Given the description of an element on the screen output the (x, y) to click on. 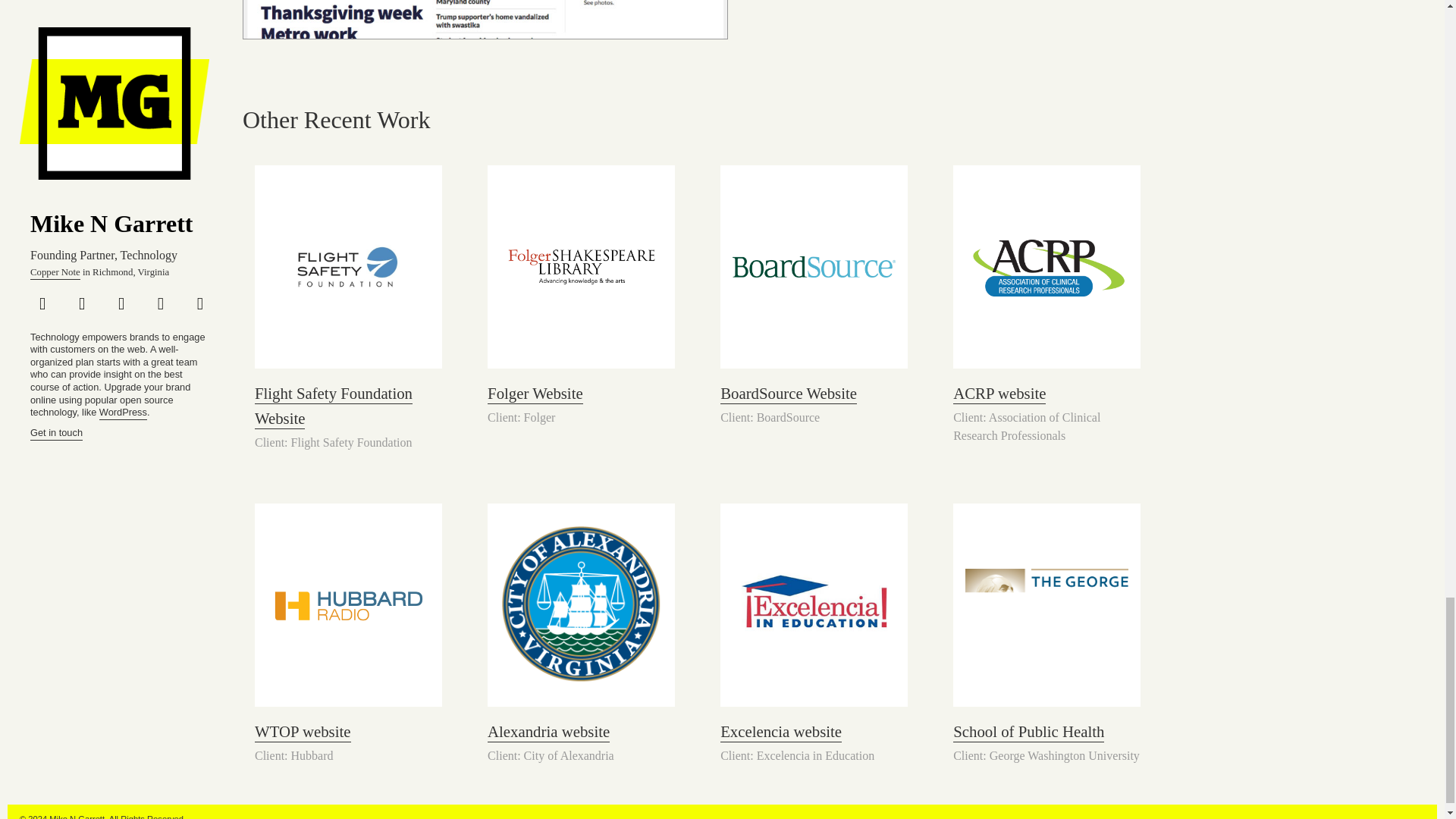
Excelencia website (780, 732)
WTOP website (302, 732)
ACRP website (999, 394)
Folger Website (535, 394)
BoardSource Website (788, 394)
School of Public Health (1028, 732)
Alexandria website (548, 732)
Flight Safety Foundation Website (333, 406)
